Given the description of an element on the screen output the (x, y) to click on. 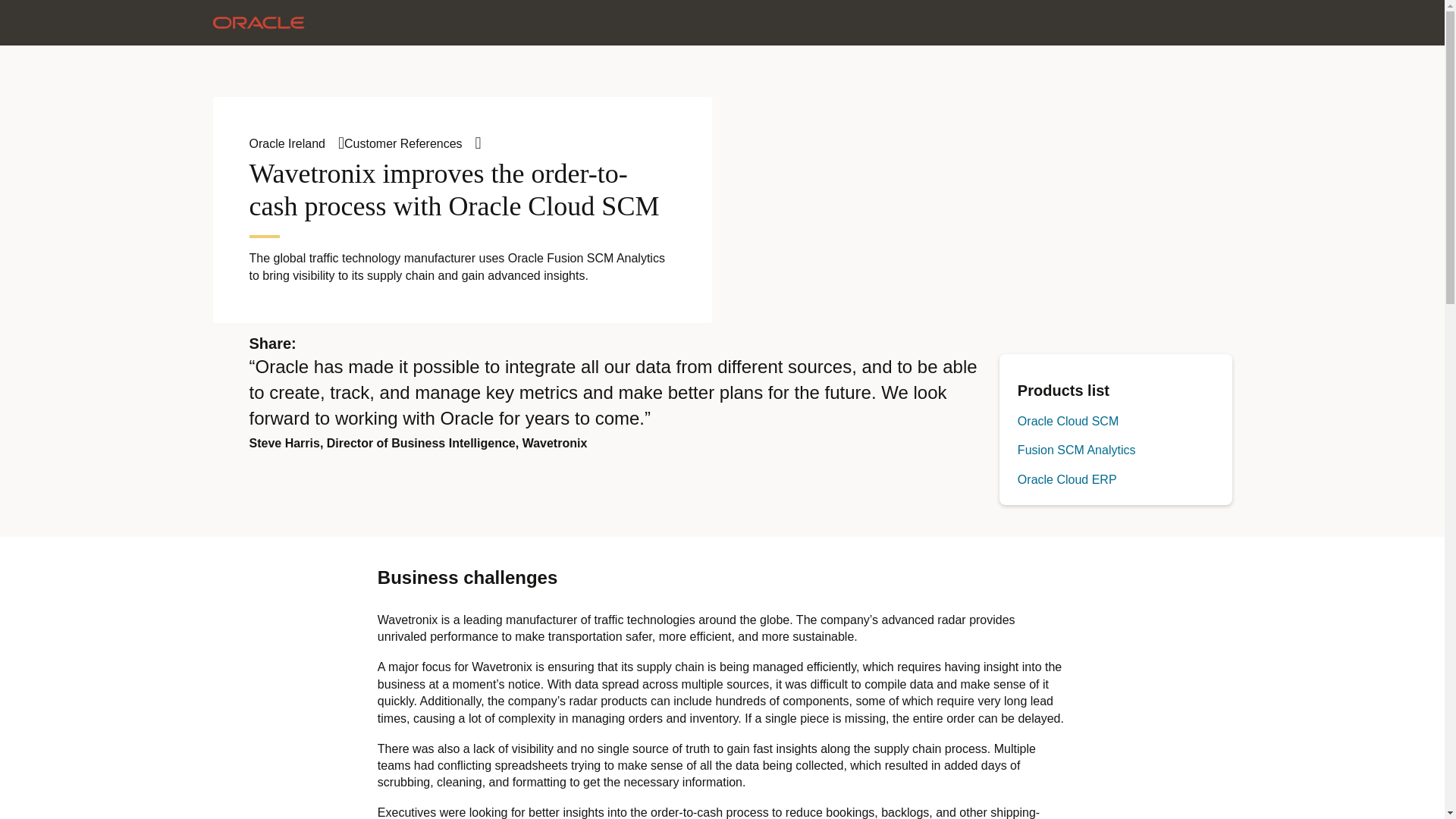
Fusion SCM Analytics (1076, 449)
Customer References (412, 143)
Oracle Cloud ERP (1066, 479)
Oracle Cloud SCM (1067, 420)
Oracle Ireland (295, 143)
